Given the description of an element on the screen output the (x, y) to click on. 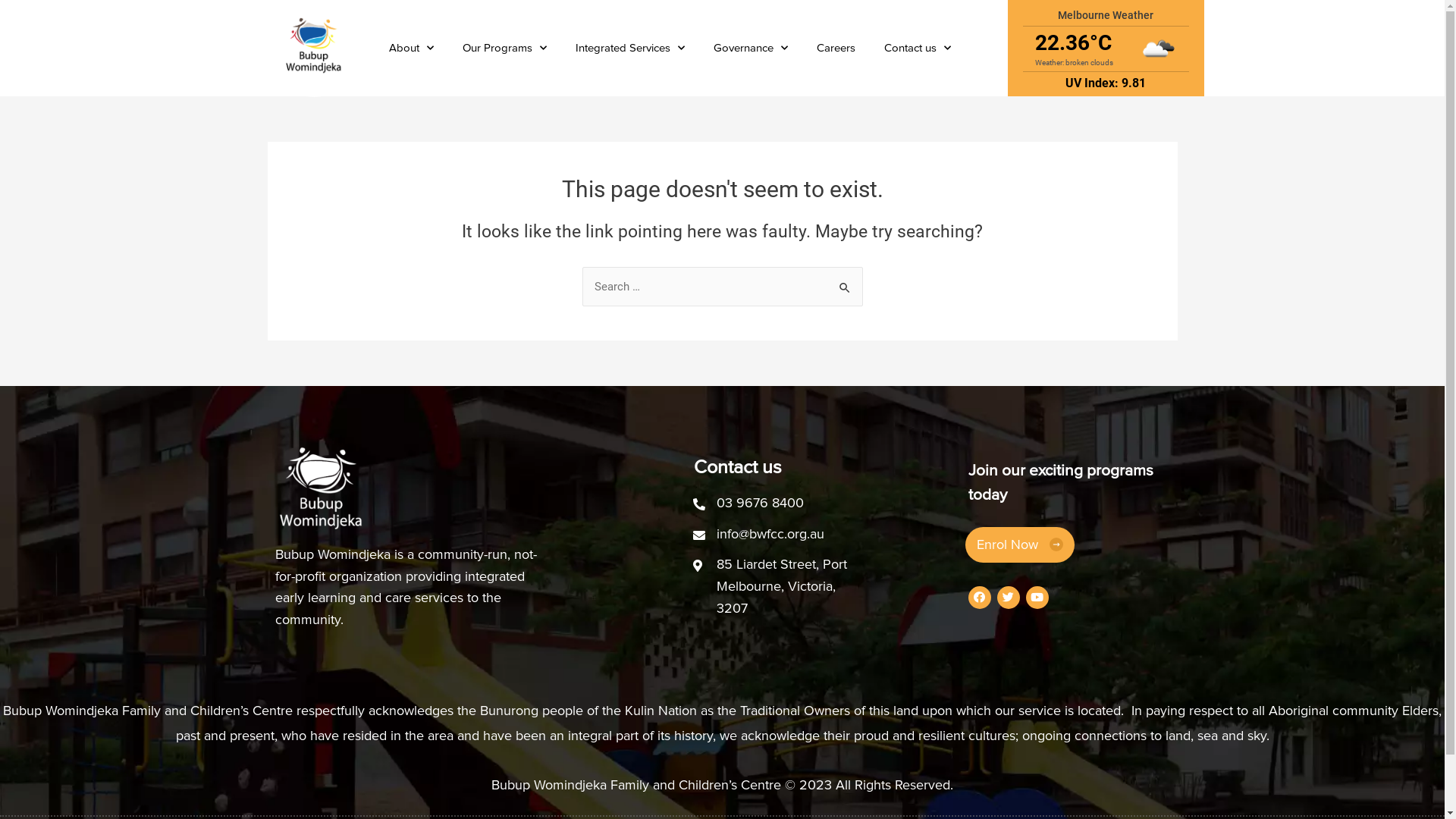
Integrated Services Element type: text (630, 47)
Our Programs Element type: text (504, 47)
Careers Element type: text (835, 47)
Search Element type: text (845, 282)
03 9676 8400 Element type: text (759, 502)
Enrol Now Element type: text (1019, 544)
Contact us Element type: text (917, 47)
info@bwfcc.org.au Element type: text (770, 533)
Governance Element type: text (750, 47)
About Element type: text (411, 47)
